Given the description of an element on the screen output the (x, y) to click on. 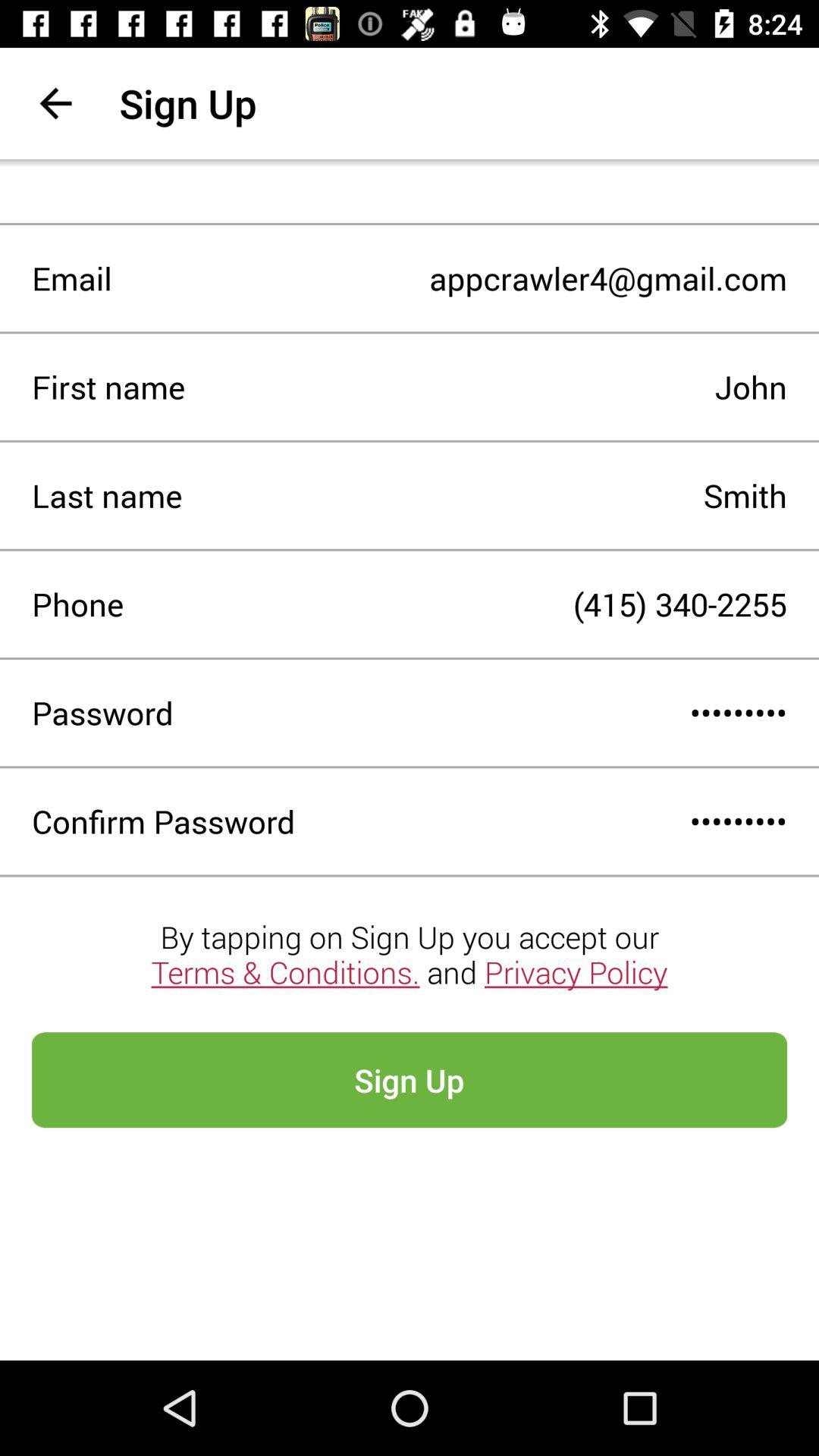
choose app to the left of sign up app (55, 103)
